Given the description of an element on the screen output the (x, y) to click on. 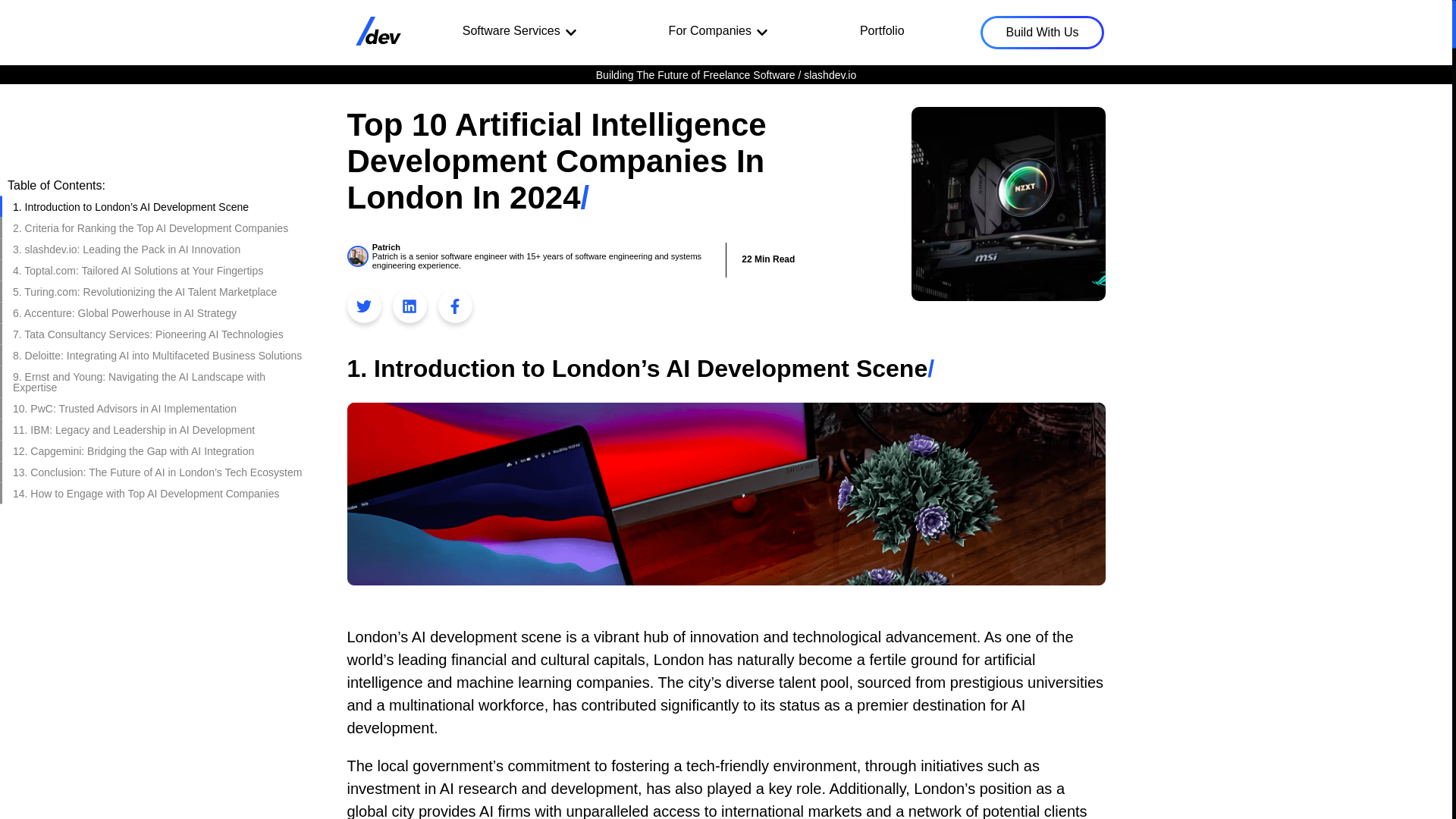
4. Toptal.com: Tailored AI Solutions at Your Fingertips (159, 269)
7. Tata Consultancy Services: Pioneering AI Technologies (159, 332)
3. slashdev.io: Leading the Pack in AI Innovation (159, 248)
10. PwC: Trusted Advisors in AI Implementation (159, 407)
12. Capgemini: Bridging the Gap with AI Integration (159, 450)
5. Turing.com: Revolutionizing the AI Talent Marketplace (159, 291)
11. IBM: Legacy and Leadership in AI Development (159, 428)
14. How to Engage with Top AI Development Companies (159, 492)
